Given the description of an element on the screen output the (x, y) to click on. 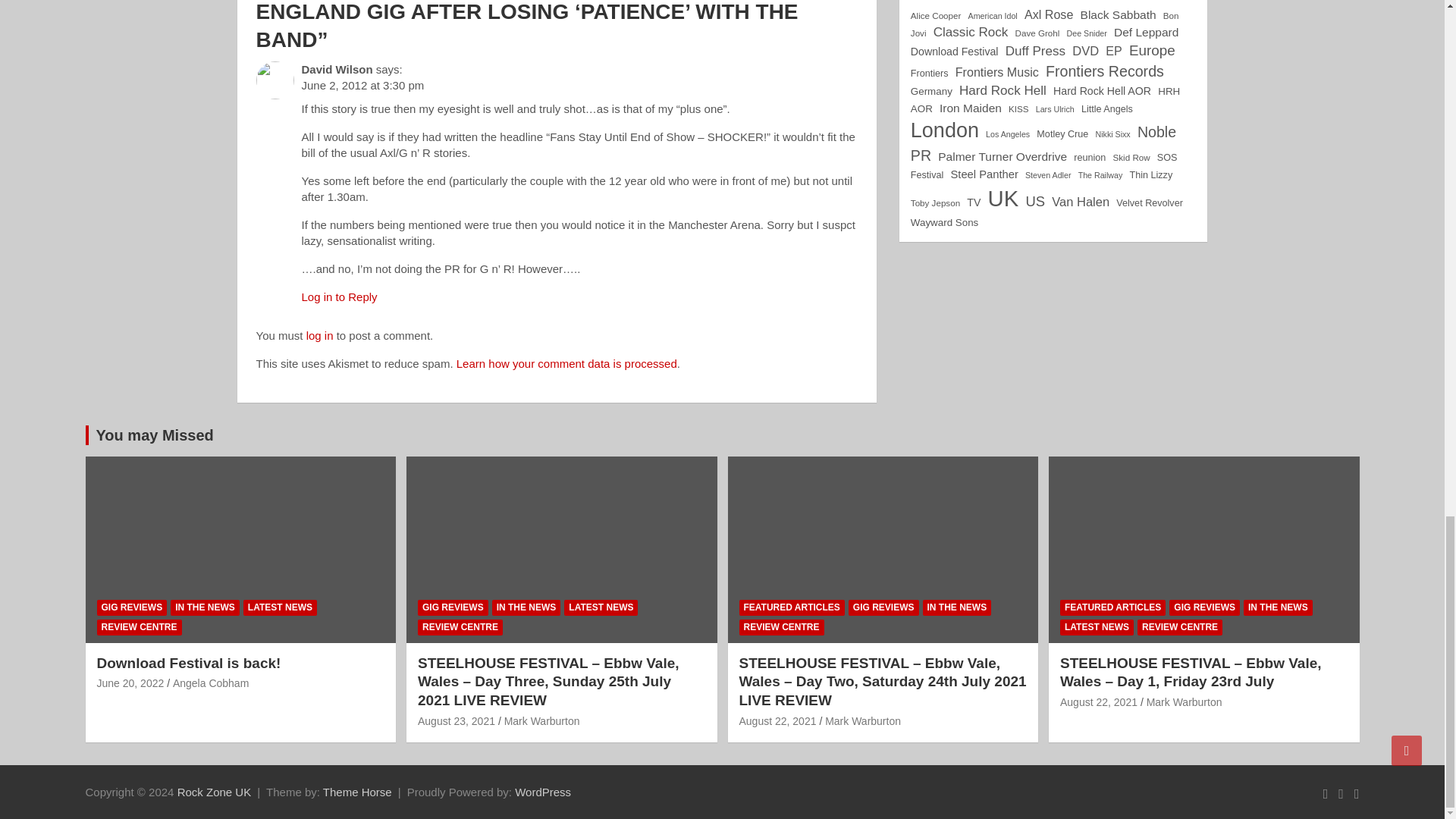
Download Festival is back! (130, 683)
WordPress (542, 791)
Theme Horse (357, 791)
Rock Zone UK (214, 791)
